Given the description of an element on the screen output the (x, y) to click on. 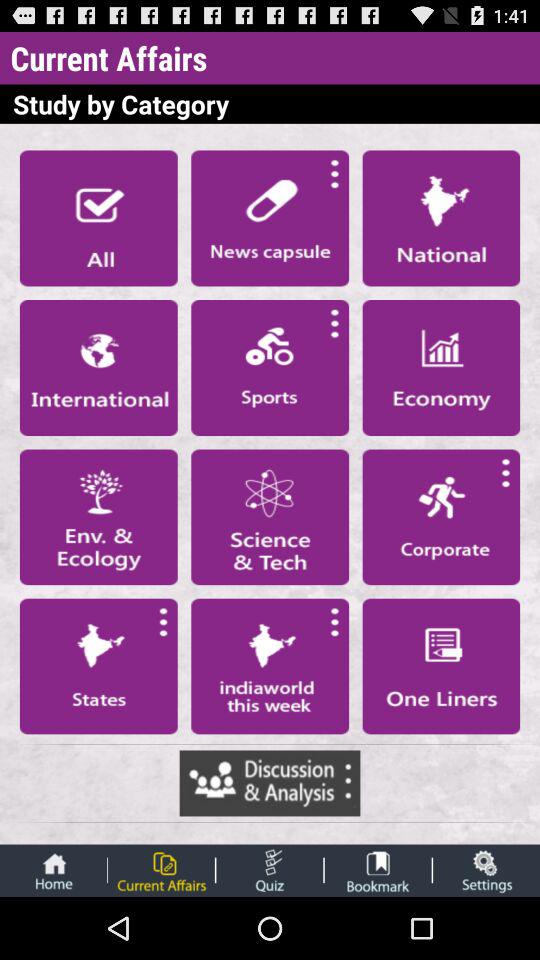
join corporate (441, 517)
